Given the description of an element on the screen output the (x, y) to click on. 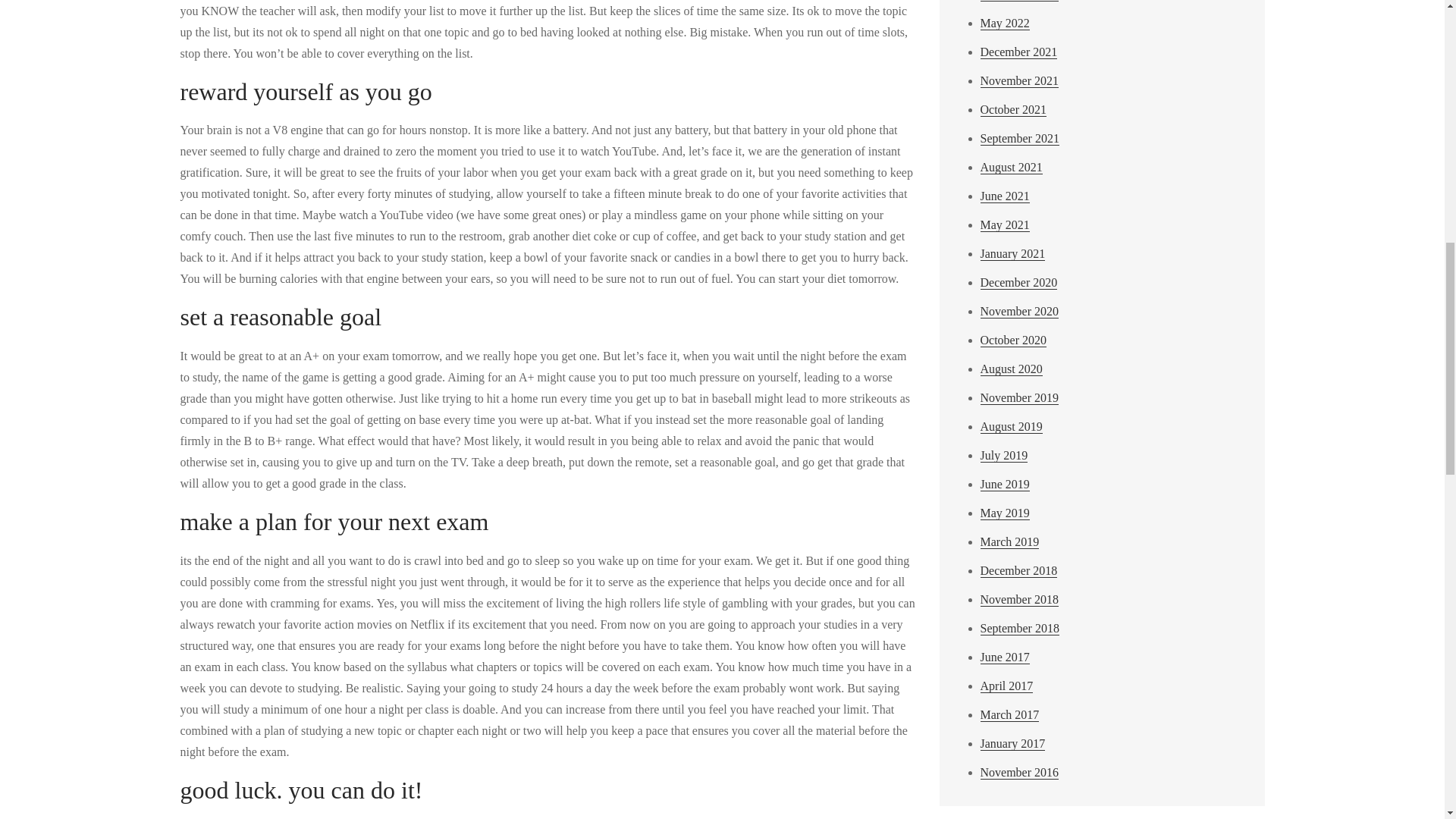
November 2021 (1018, 80)
December 2021 (1018, 51)
May 2022 (1004, 23)
October 2021 (1012, 110)
November 2022 (1018, 0)
